Given the description of an element on the screen output the (x, y) to click on. 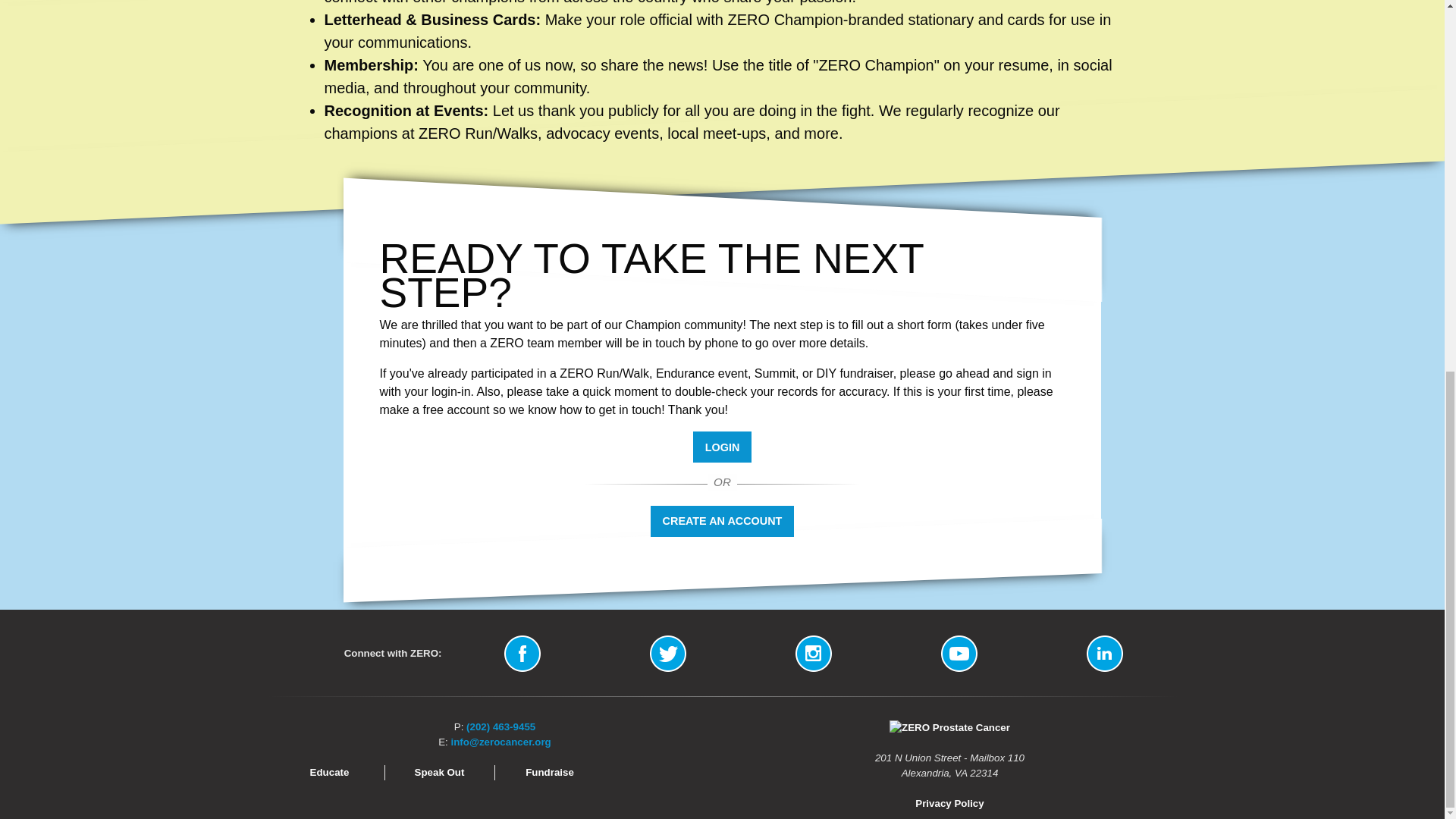
LOGIN (722, 446)
Privacy Policy (949, 803)
Speak Out (440, 772)
CREATE AN ACCOUNT (721, 521)
Educate (329, 772)
Fundraise (549, 772)
